Given the description of an element on the screen output the (x, y) to click on. 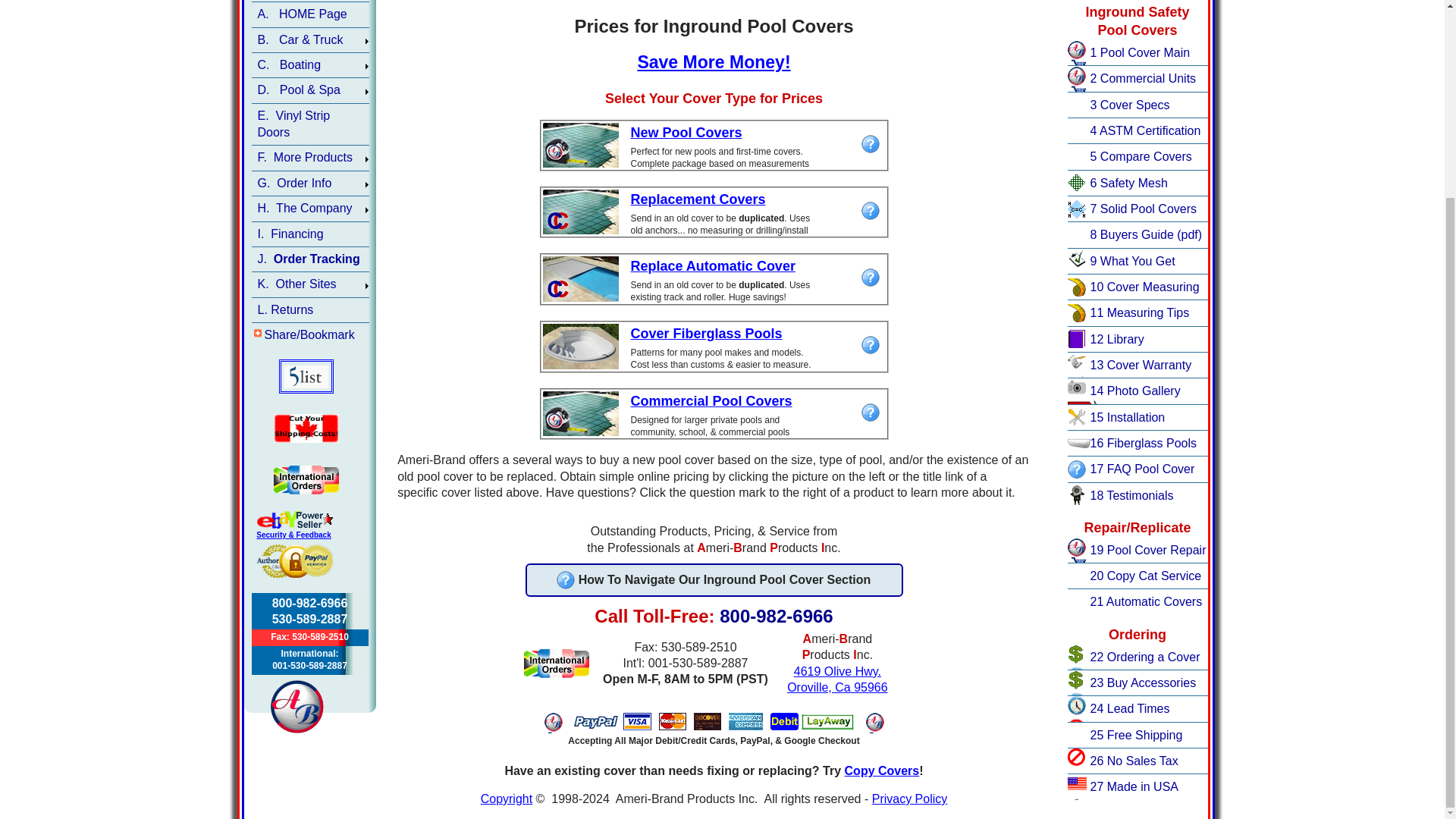
Replacement Covers (697, 199)
1 Pool Cover Main (1148, 52)
Learn more about replacement automatic pool covers (870, 277)
Privacy Policy (909, 798)
Save More Money! (713, 62)
Replace Automatic Cover (712, 265)
Learn more about pool covers for fiberglass pools (870, 344)
Commercial Pool Covers (711, 400)
Cover Fiberglass Pools (706, 333)
Learn more about replacement pool covers (870, 210)
Learn more about new pool covers (870, 144)
Copyright (506, 798)
New Pool Covers (686, 132)
Copy Covers (882, 770)
Learn more about pool covers for fiberglass pools (870, 412)
